Given the description of an element on the screen output the (x, y) to click on. 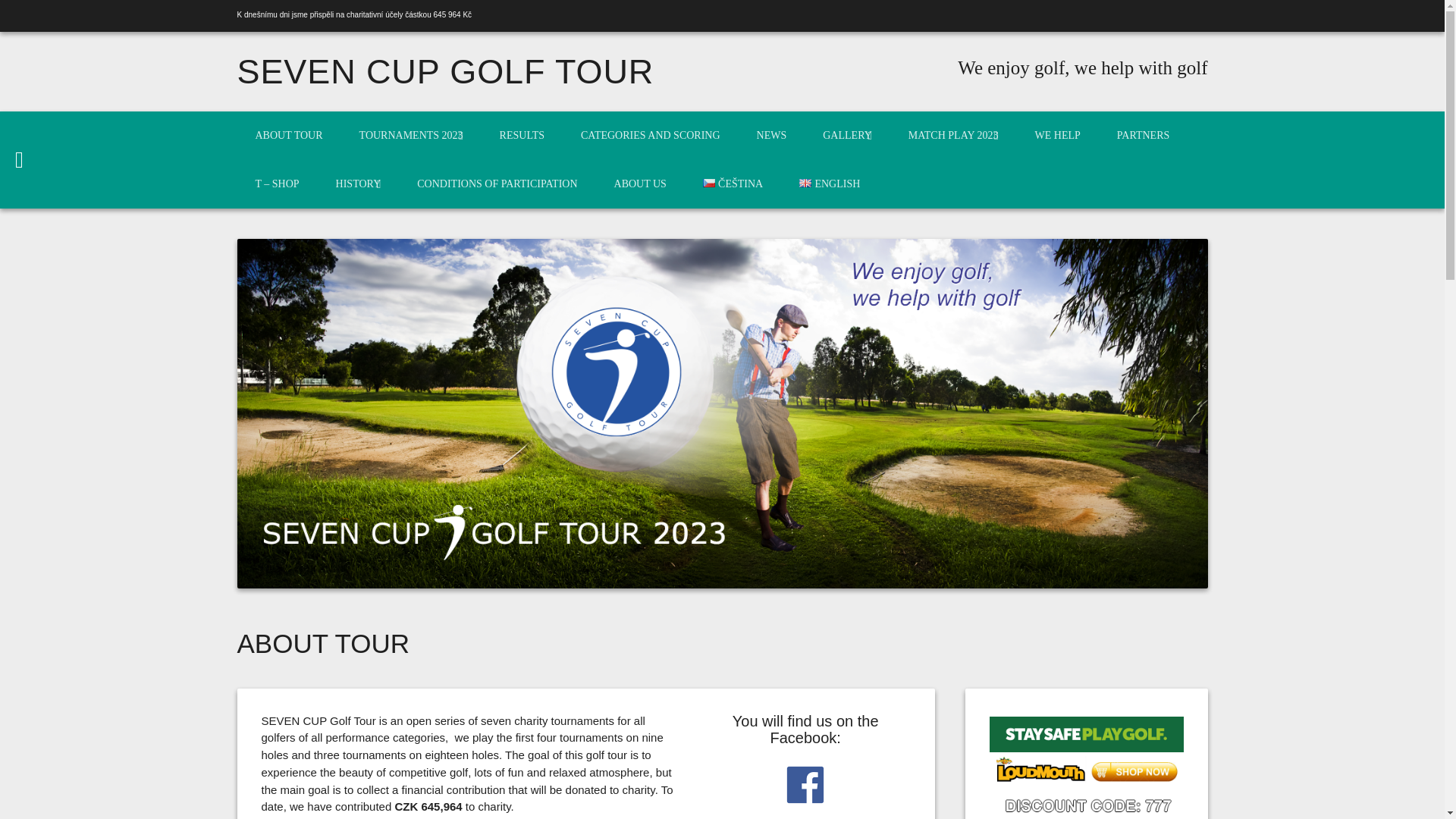
ABOUT US (639, 183)
GALLERY (847, 135)
TOURNAMENTS 2023 (410, 135)
HISTORY (357, 183)
MATCH PLAY 2023 (952, 135)
ENGLISH (828, 183)
ABOUT TOUR (287, 135)
CONDITIONS OF PARTICIPATION (496, 183)
RESULTS (521, 135)
WE HELP (1057, 135)
CATEGORIES AND SCORING (650, 135)
SEVEN CUP GOLF TOUR (444, 71)
NEWS (771, 135)
PARTNERS (1143, 135)
